Given the description of an element on the screen output the (x, y) to click on. 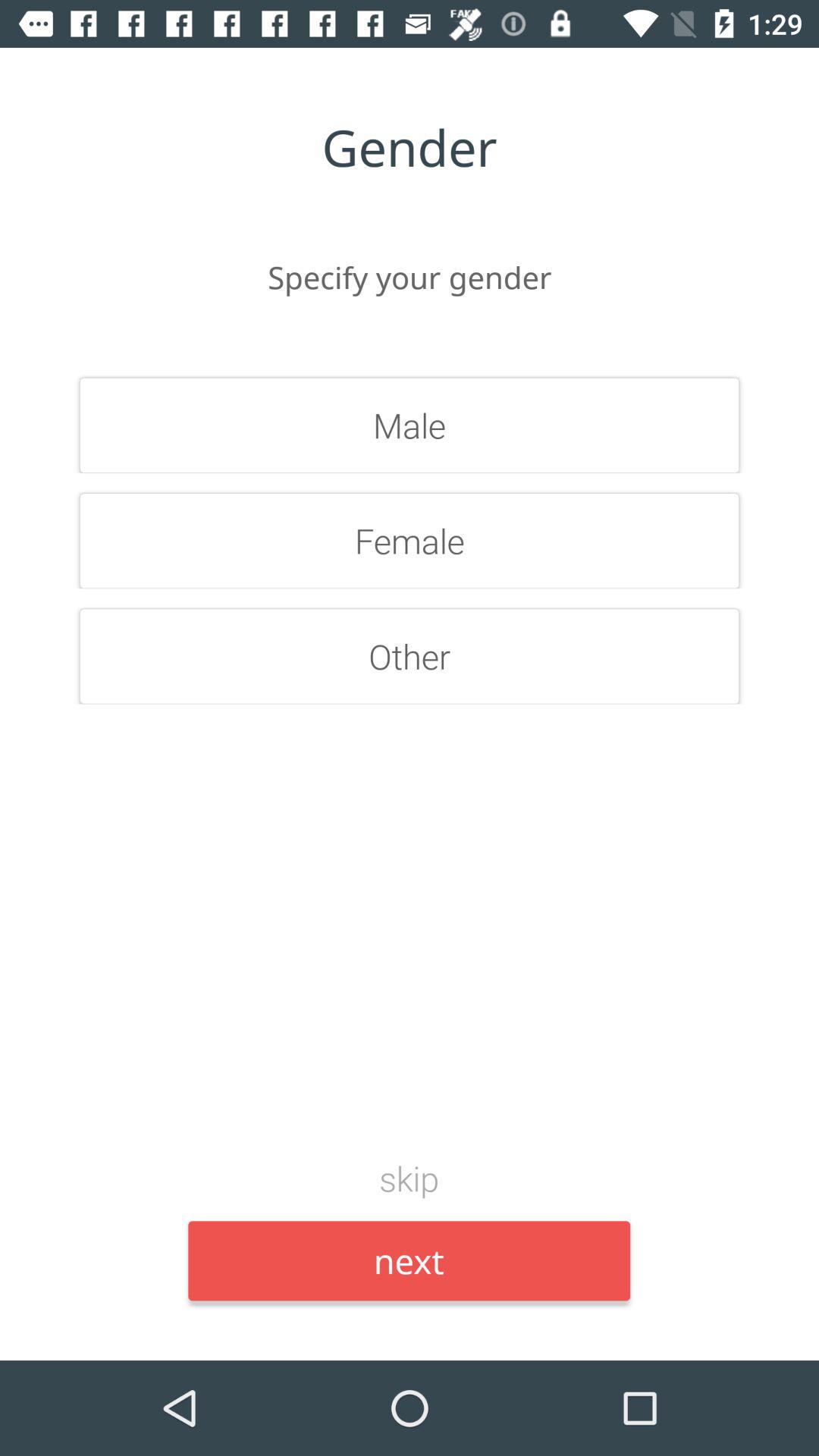
open item above skip item (409, 656)
